Given the description of an element on the screen output the (x, y) to click on. 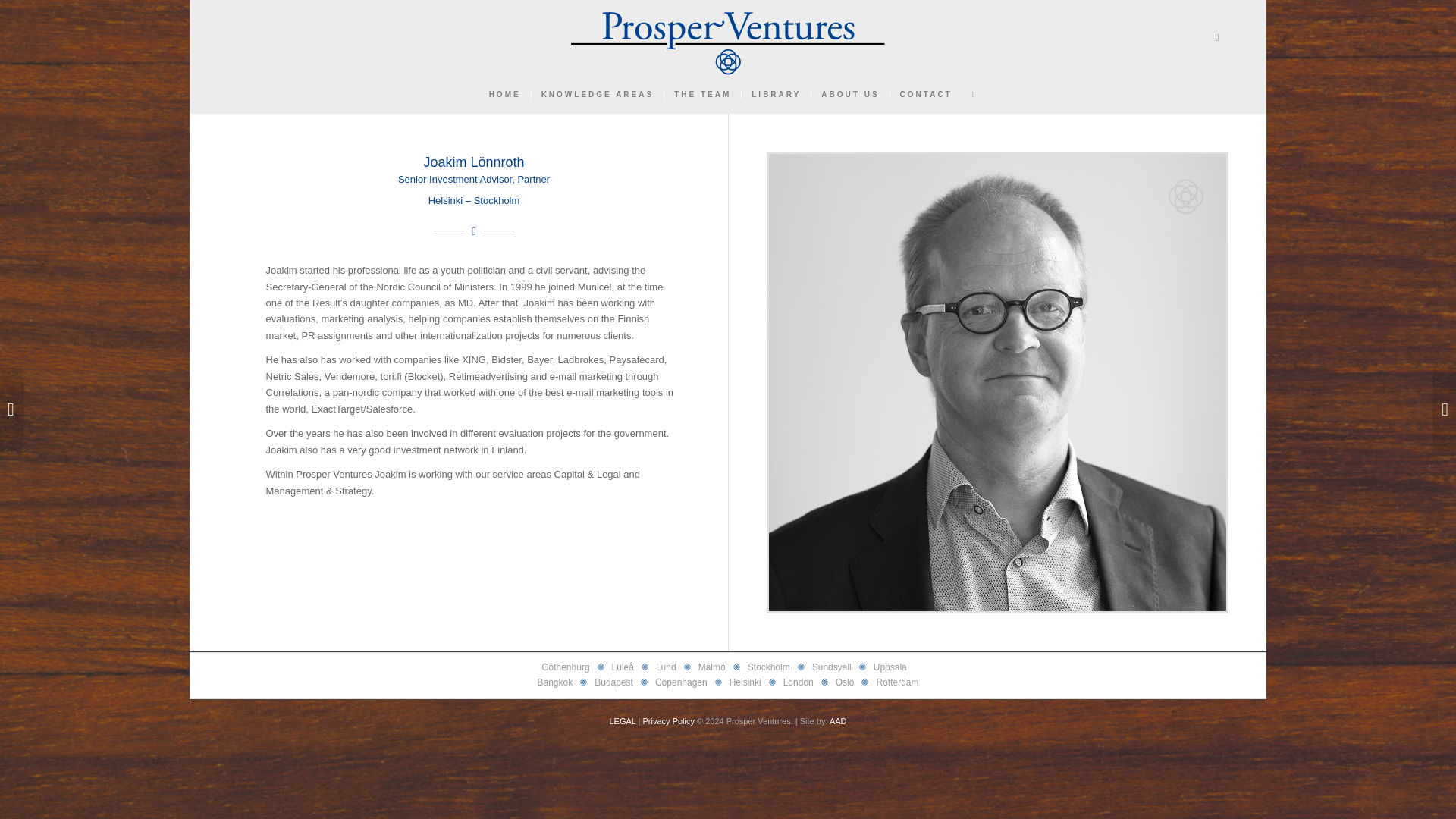
HOME (505, 94)
Privacy Policy (668, 720)
CONTACT (925, 94)
KNOWLEDGE AREAS (597, 94)
LEGAL (621, 720)
LIBRARY (775, 94)
THE TEAM (702, 94)
PV-logo,1000x200px (727, 38)
AAD (838, 720)
ABOUT US (849, 94)
